Given the description of an element on the screen output the (x, y) to click on. 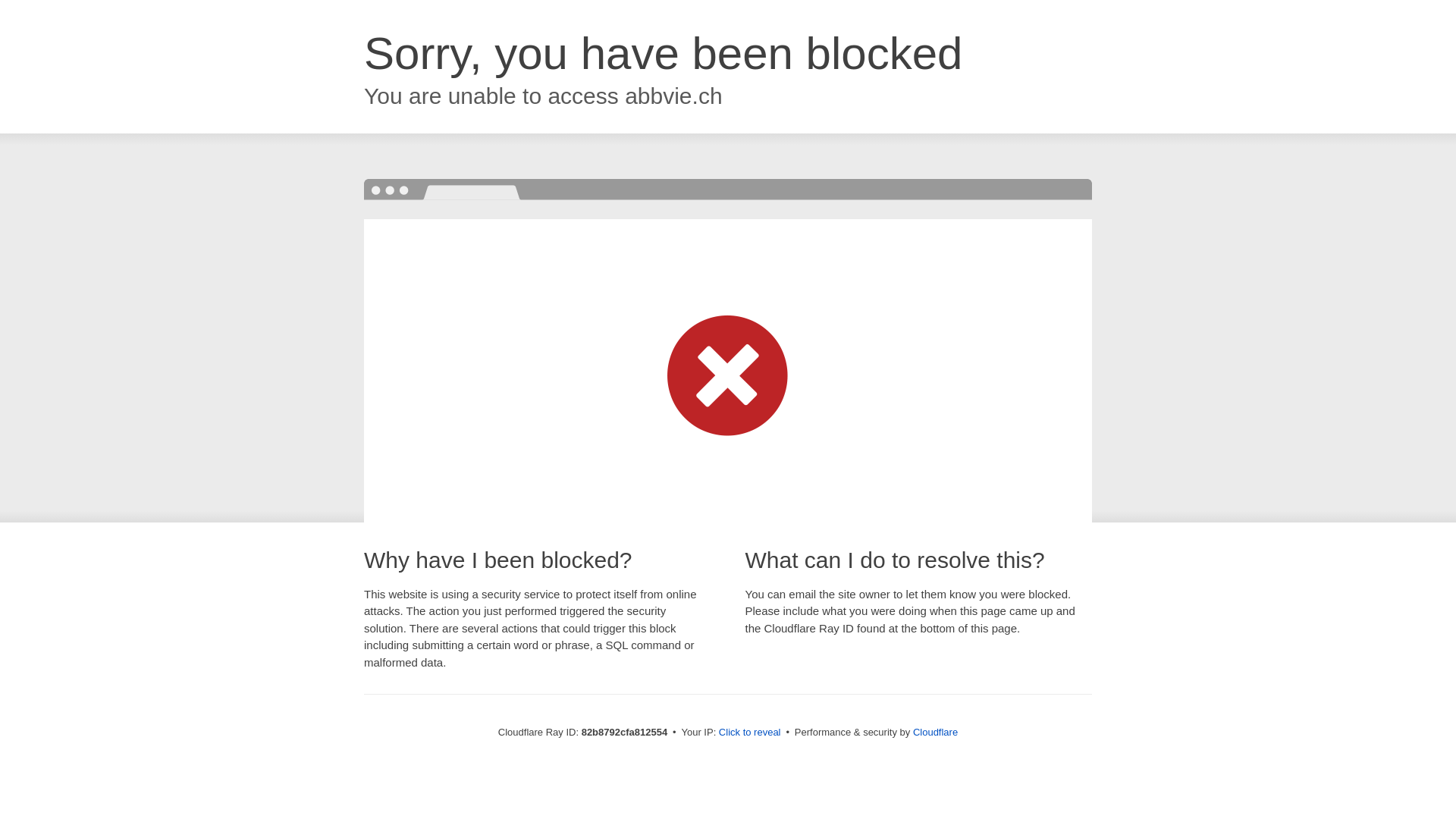
Cloudflare Element type: text (935, 731)
Click to reveal Element type: text (749, 732)
